Given the description of an element on the screen output the (x, y) to click on. 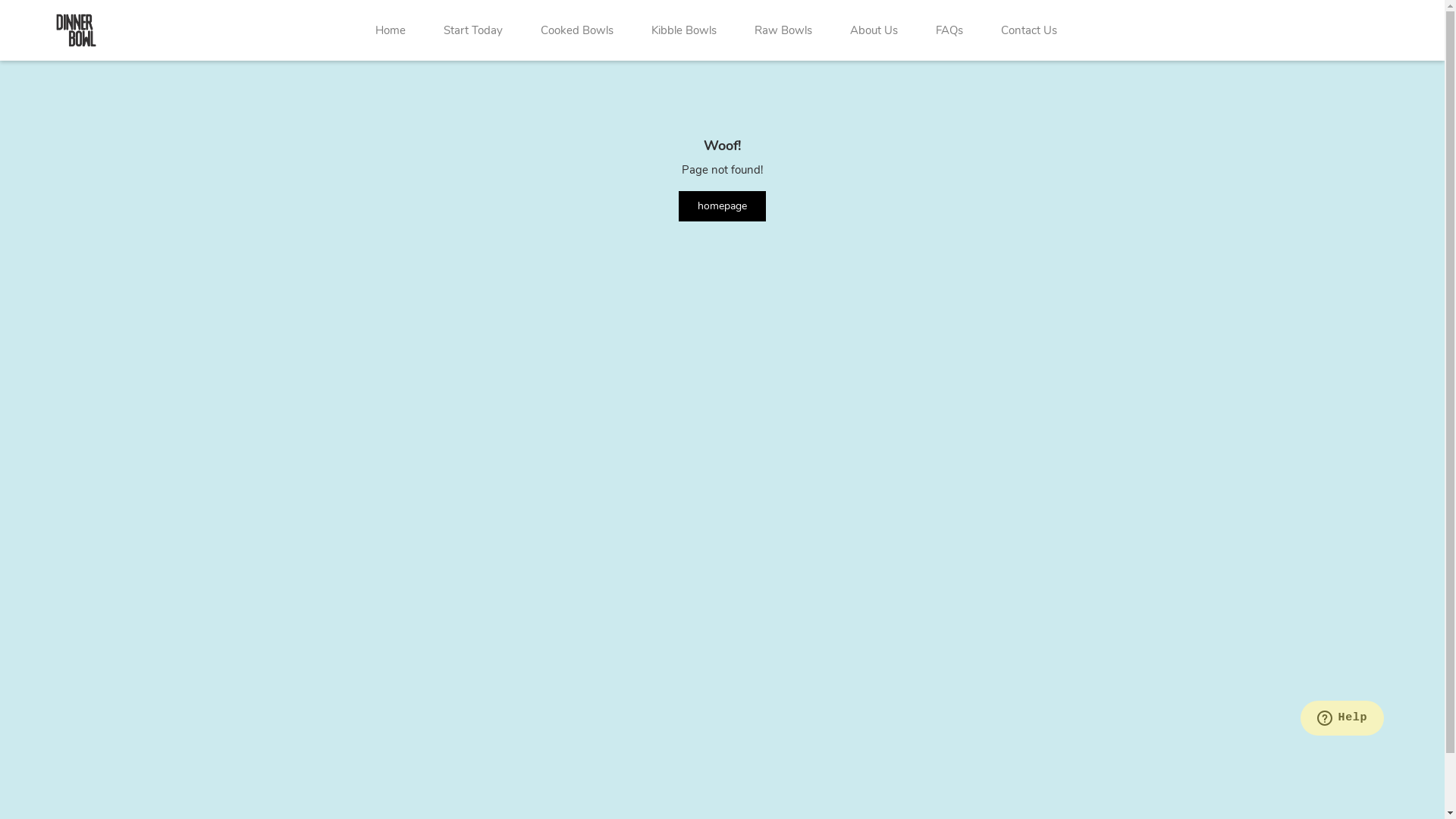
FAQs Element type: text (949, 30)
homepage Element type: text (721, 206)
Contact Us Element type: text (1029, 30)
Start Today Element type: text (472, 30)
Home Element type: text (390, 30)
Raw Bowls Element type: text (783, 30)
Cooked Bowls Element type: text (576, 30)
Opens a widget where you can chat to one of our agents Element type: hover (1341, 719)
Kibble Bowls Element type: text (683, 30)
About Us Element type: text (873, 30)
